Given the description of an element on the screen output the (x, y) to click on. 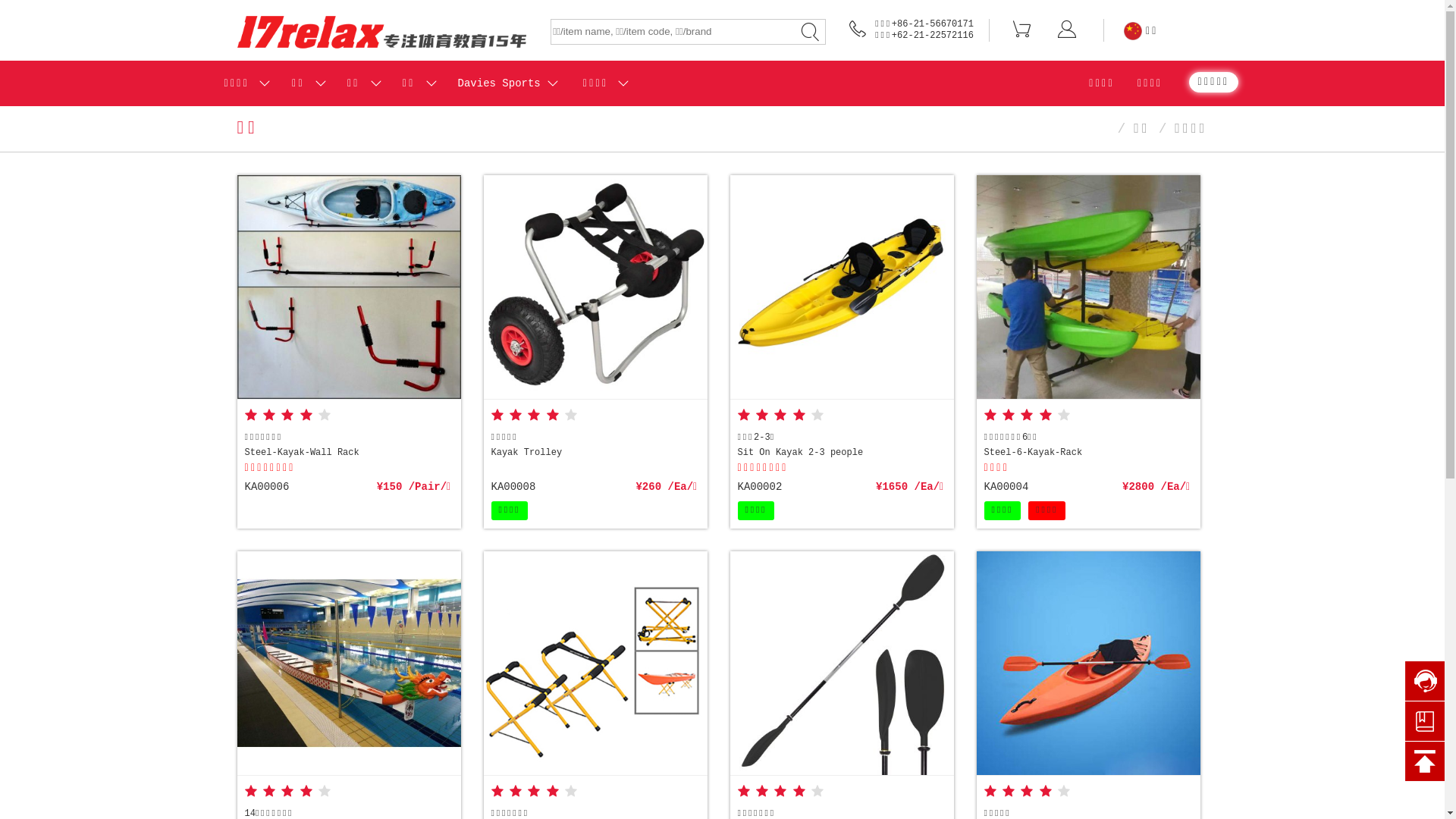
Davies Sports Element type: text (499, 83)
